Given the description of an element on the screen output the (x, y) to click on. 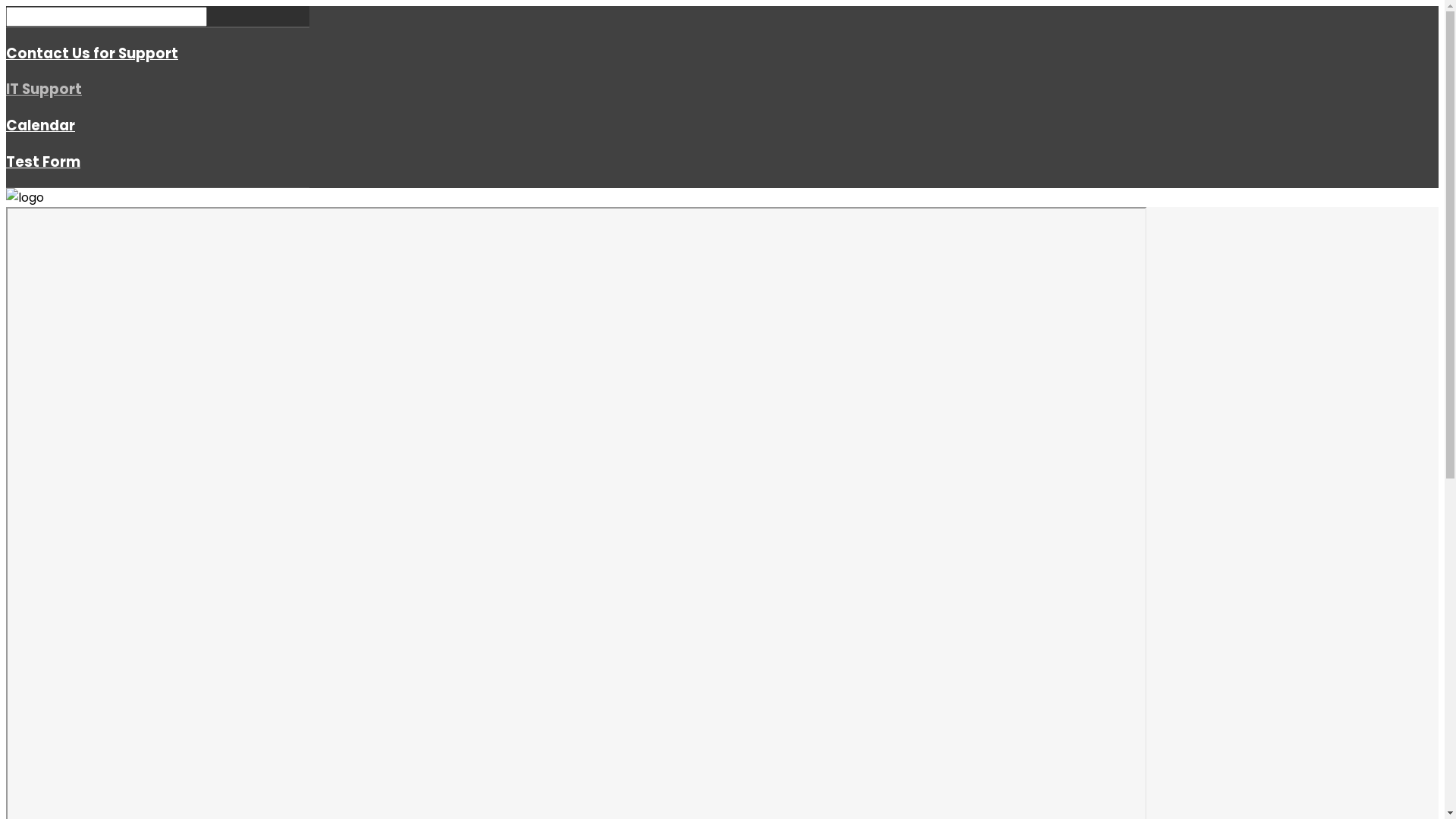
Test Form Element type: text (43, 161)
Contact Us for Support Element type: text (92, 53)
IT Support Element type: text (43, 88)
Calendar Element type: text (40, 125)
